Given the description of an element on the screen output the (x, y) to click on. 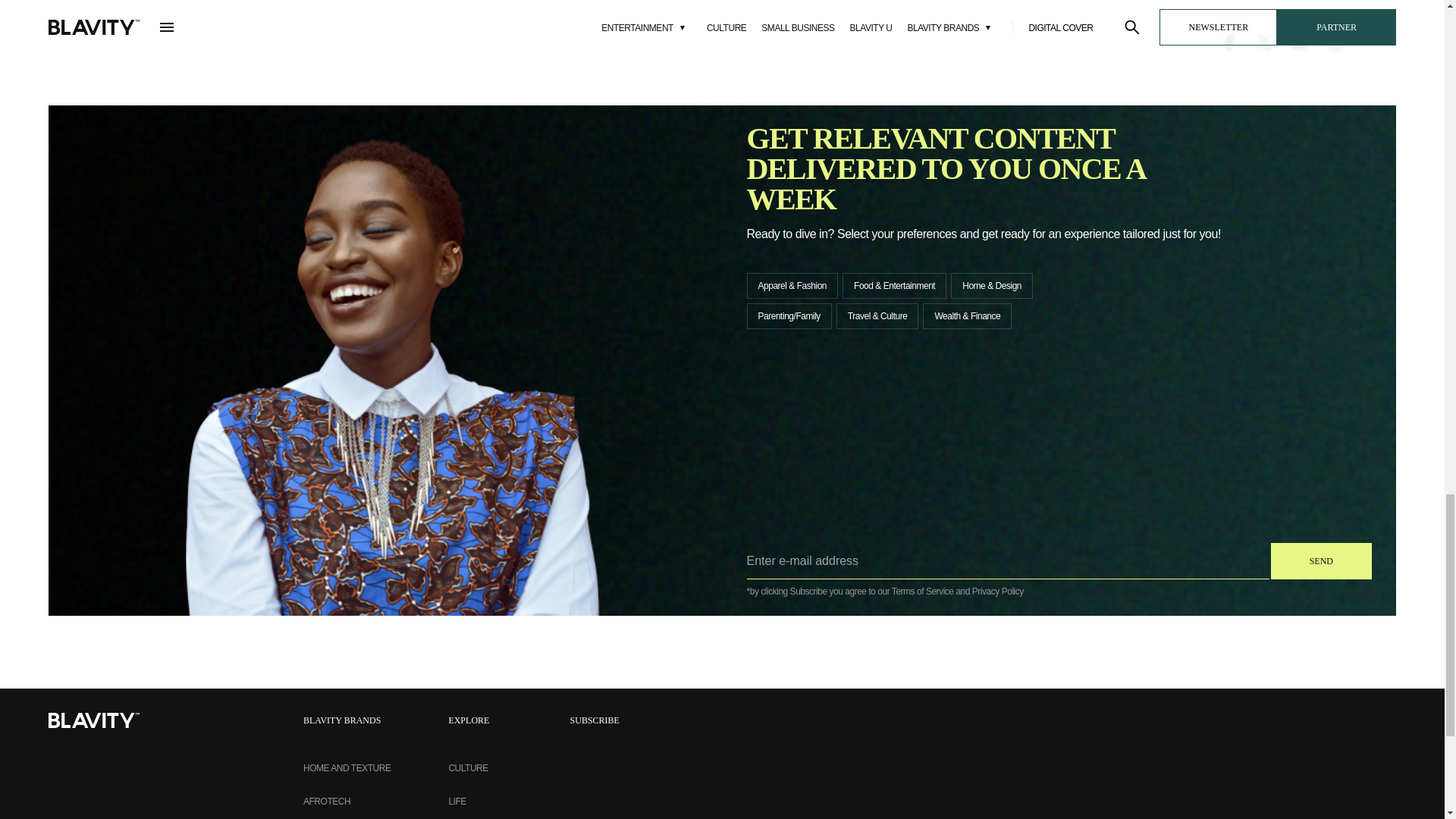
Blavity News logo (93, 720)
send (1321, 560)
